Given the description of an element on the screen output the (x, y) to click on. 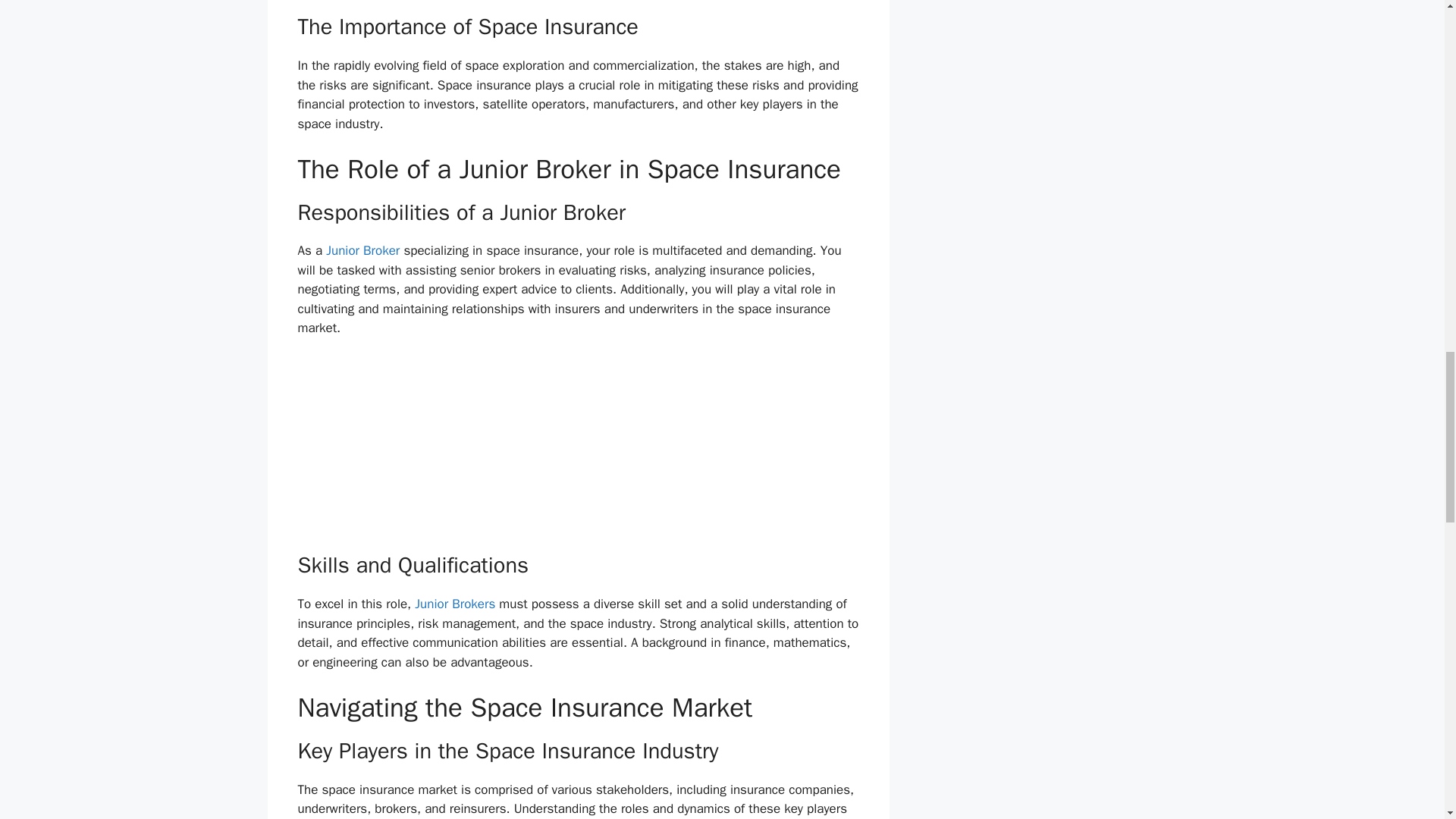
Junior Brokers (454, 603)
Junior Broker (364, 250)
